Given the description of an element on the screen output the (x, y) to click on. 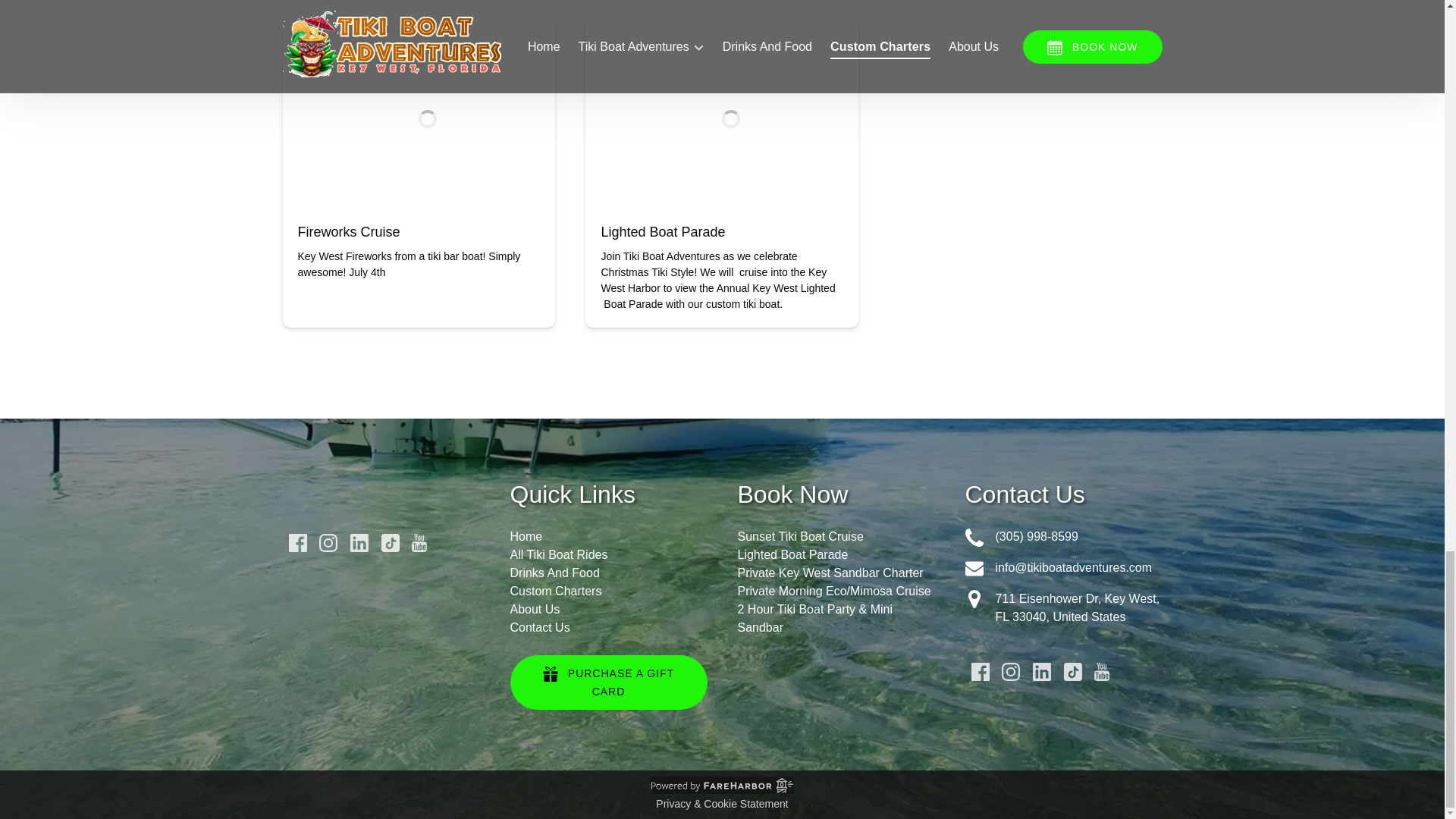
About Us (534, 608)
Drinks And Food (553, 572)
Phone (972, 537)
Map Marker (972, 598)
Home (525, 535)
Sunset Tiki Boat Cruise (799, 535)
GIFT (550, 673)
Custom Charters (555, 590)
Private Key West Sandbar Charter (829, 572)
All Tiki Boat Rides (558, 554)
